Given the description of an element on the screen output the (x, y) to click on. 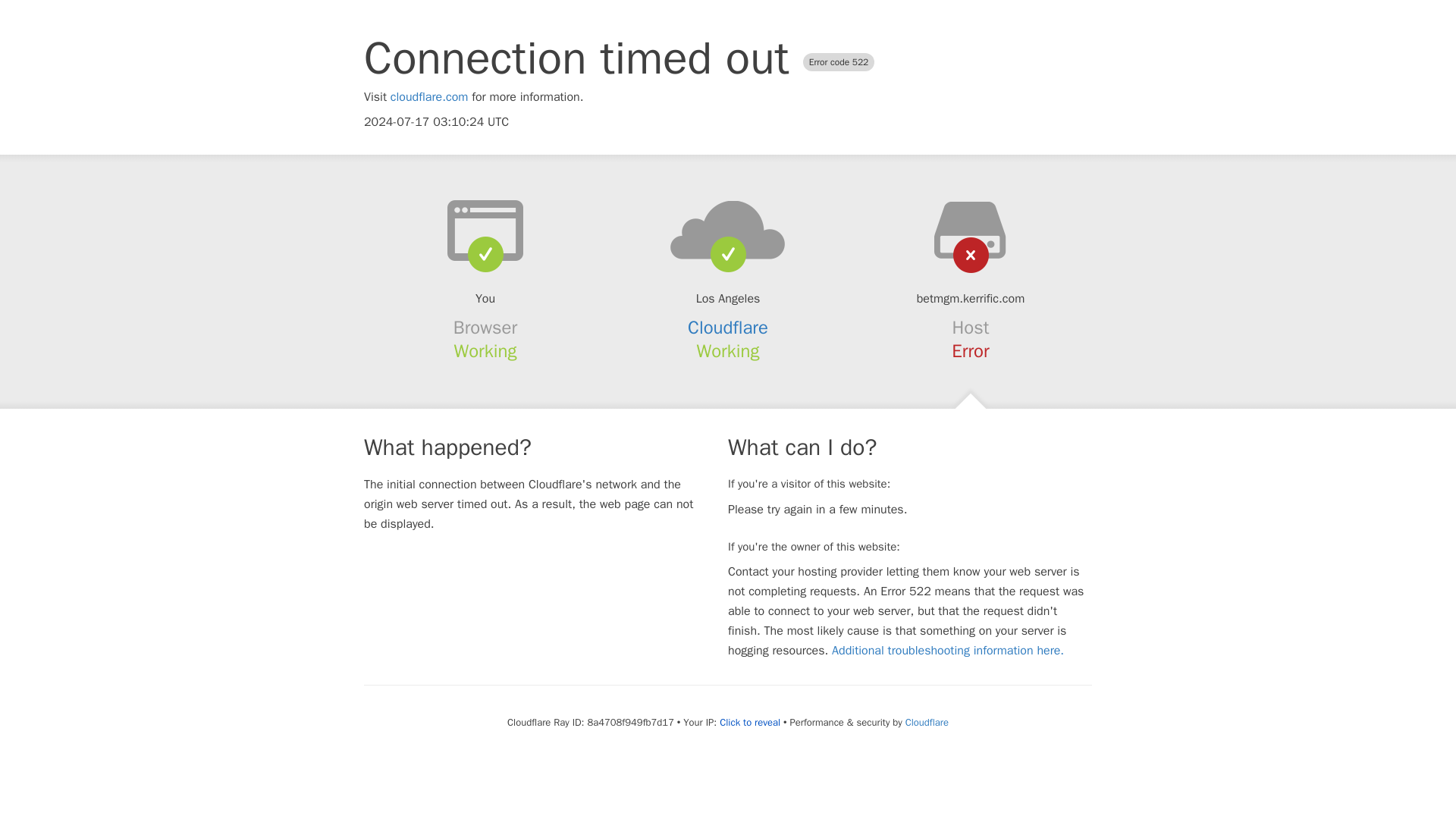
cloudflare.com (429, 96)
Additional troubleshooting information here. (947, 650)
Cloudflare (727, 327)
Cloudflare (927, 721)
Click to reveal (749, 722)
